Given the description of an element on the screen output the (x, y) to click on. 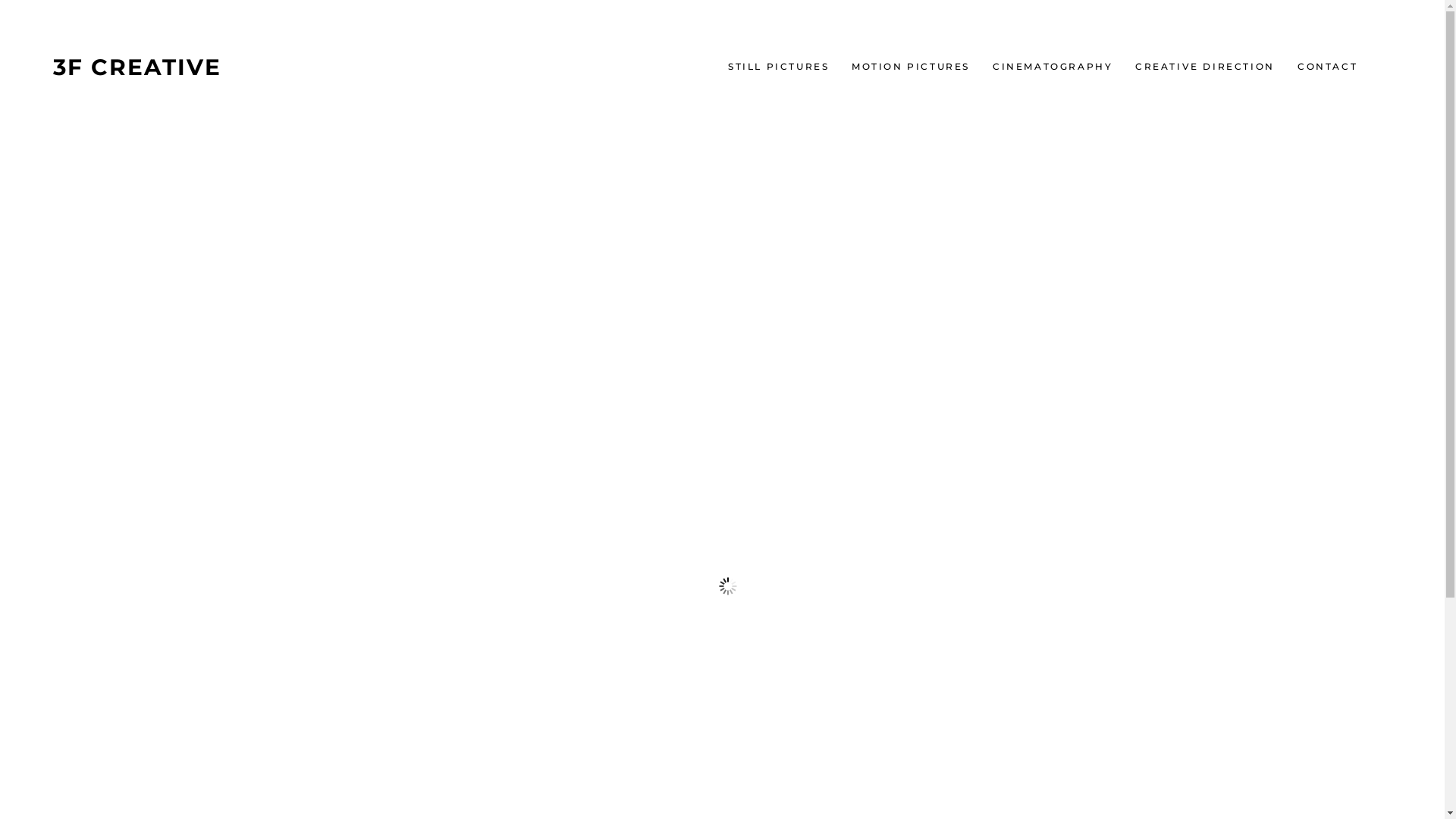
CINEMATOGRAPHY Element type: text (1052, 66)
STILL PICTURES Element type: text (778, 66)
MOTION PICTURES Element type: text (910, 66)
CREATIVE DIRECTION Element type: text (1204, 66)
CONTACT Element type: text (1327, 66)
